Given the description of an element on the screen output the (x, y) to click on. 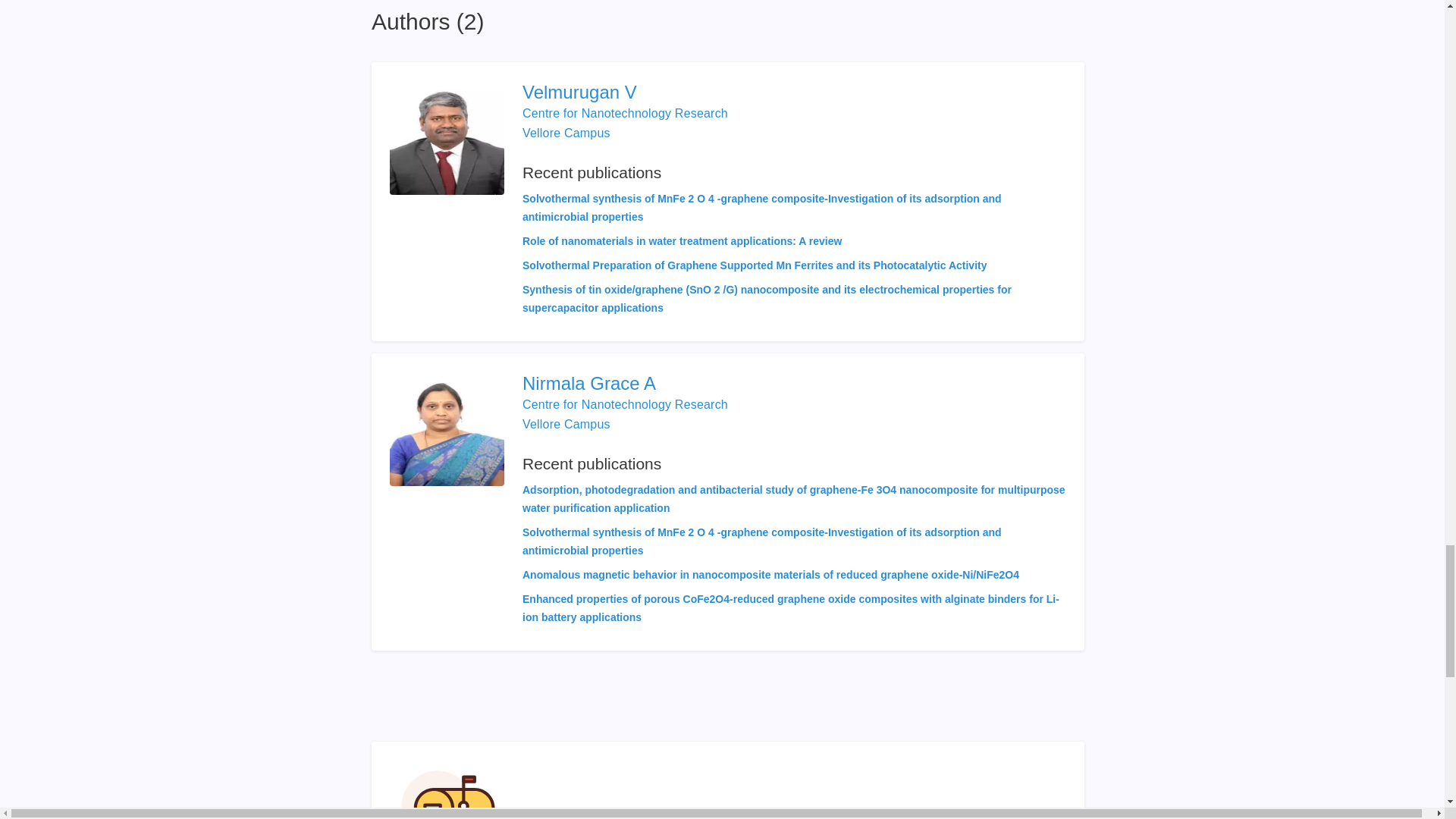
Subscribe form hero illustration (448, 789)
